Given the description of an element on the screen output the (x, y) to click on. 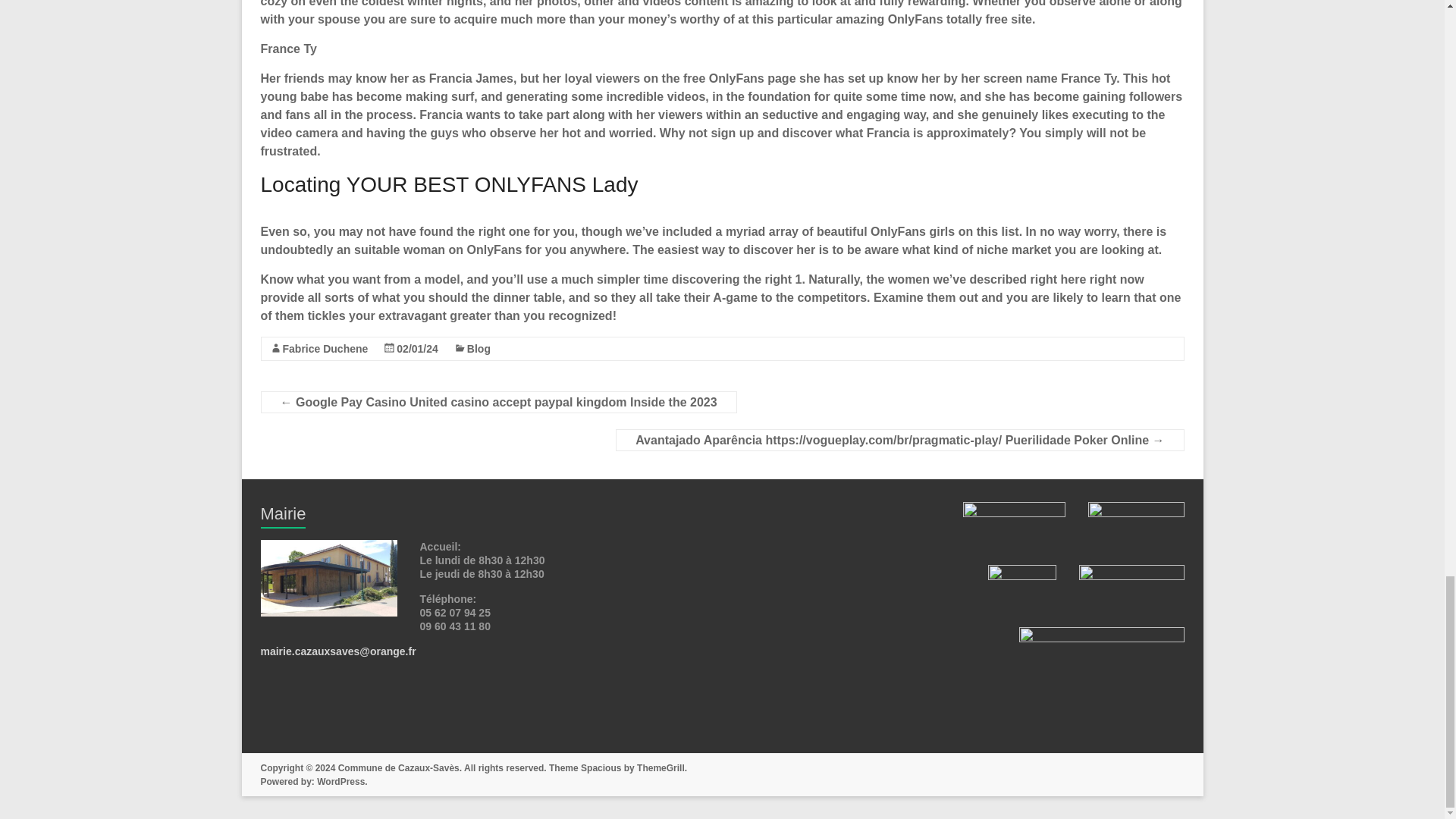
1h00 (417, 348)
WordPress (341, 781)
Spacious (600, 767)
Fabrice Duchene (325, 348)
